Given the description of an element on the screen output the (x, y) to click on. 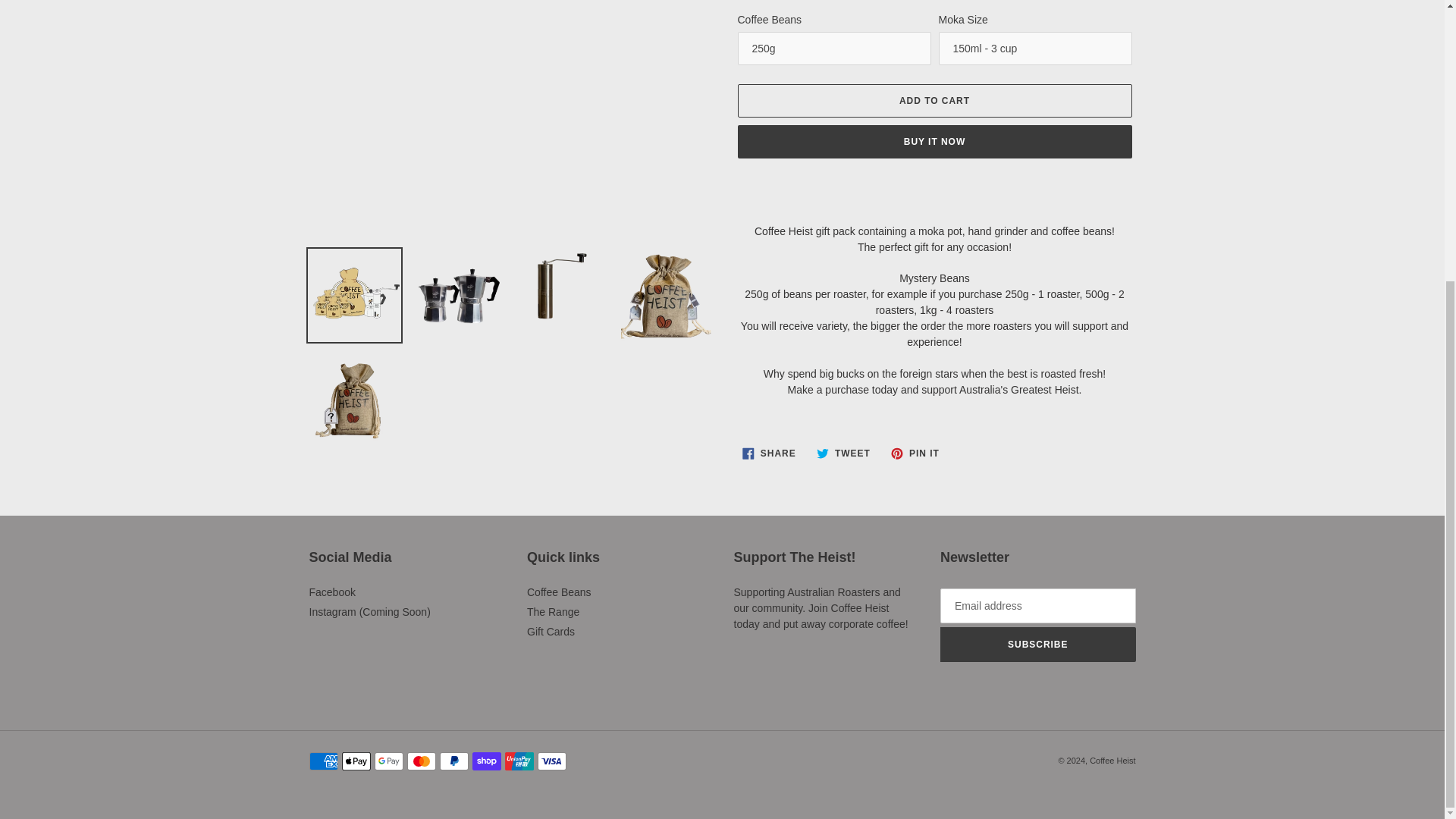
ADD TO CART (769, 453)
BUY IT NOW (933, 100)
Coffee Beans (933, 141)
Facebook (559, 592)
